Given the description of an element on the screen output the (x, y) to click on. 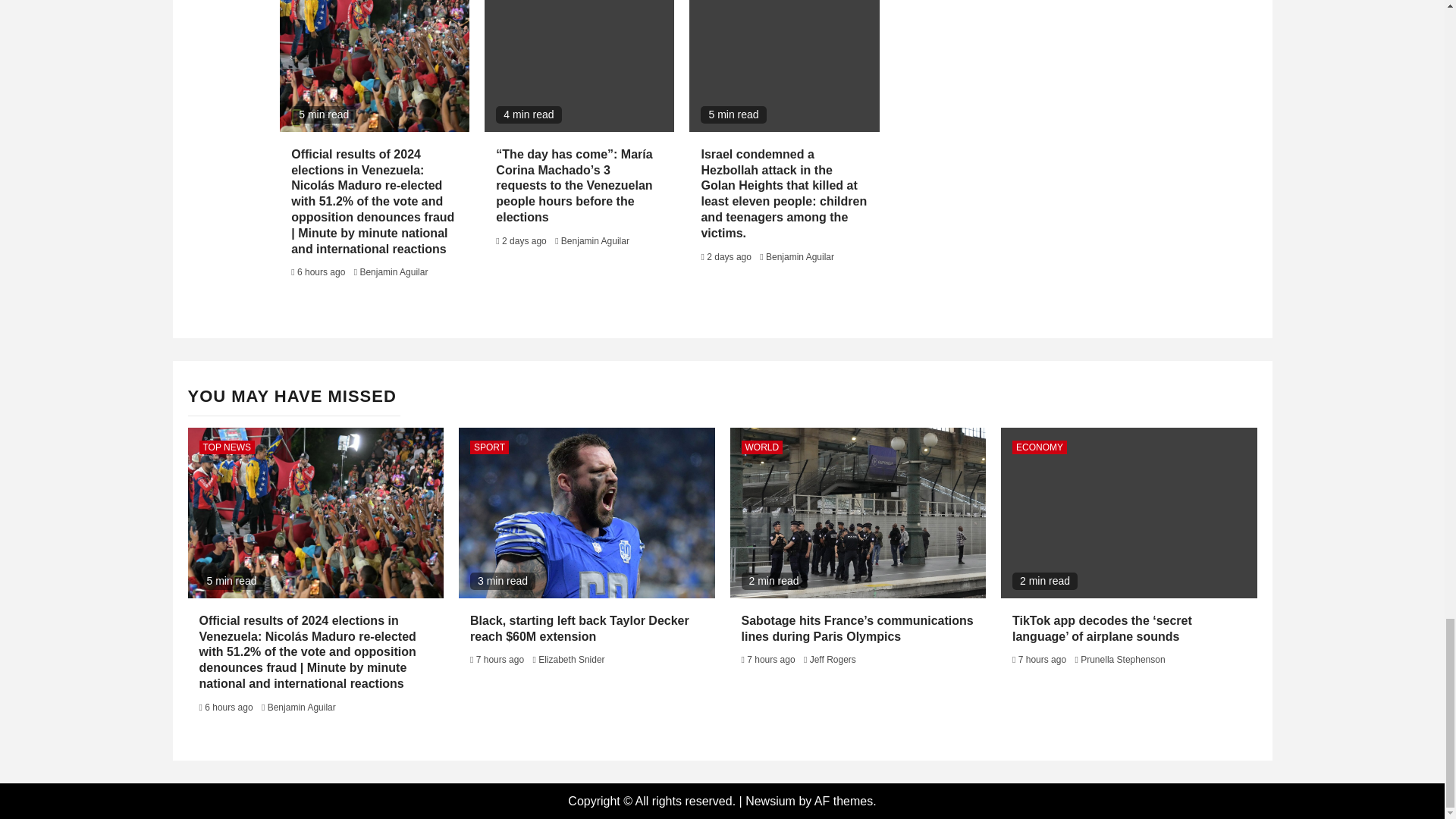
Benjamin Aguilar (594, 240)
Benjamin Aguilar (799, 256)
Benjamin Aguilar (393, 271)
